Given the description of an element on the screen output the (x, y) to click on. 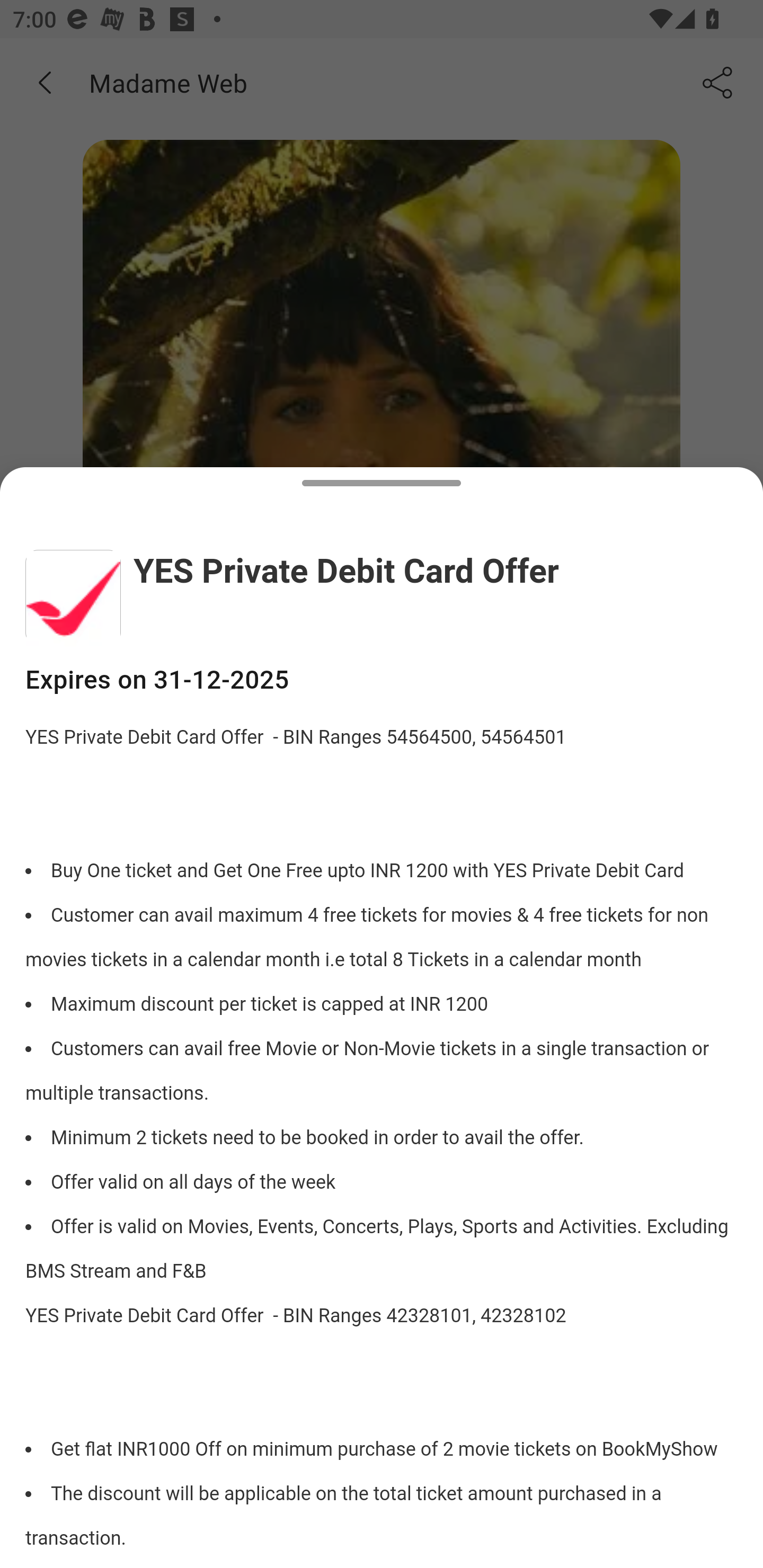
Expires on 31-12-2025 (381, 680)
